Given the description of an element on the screen output the (x, y) to click on. 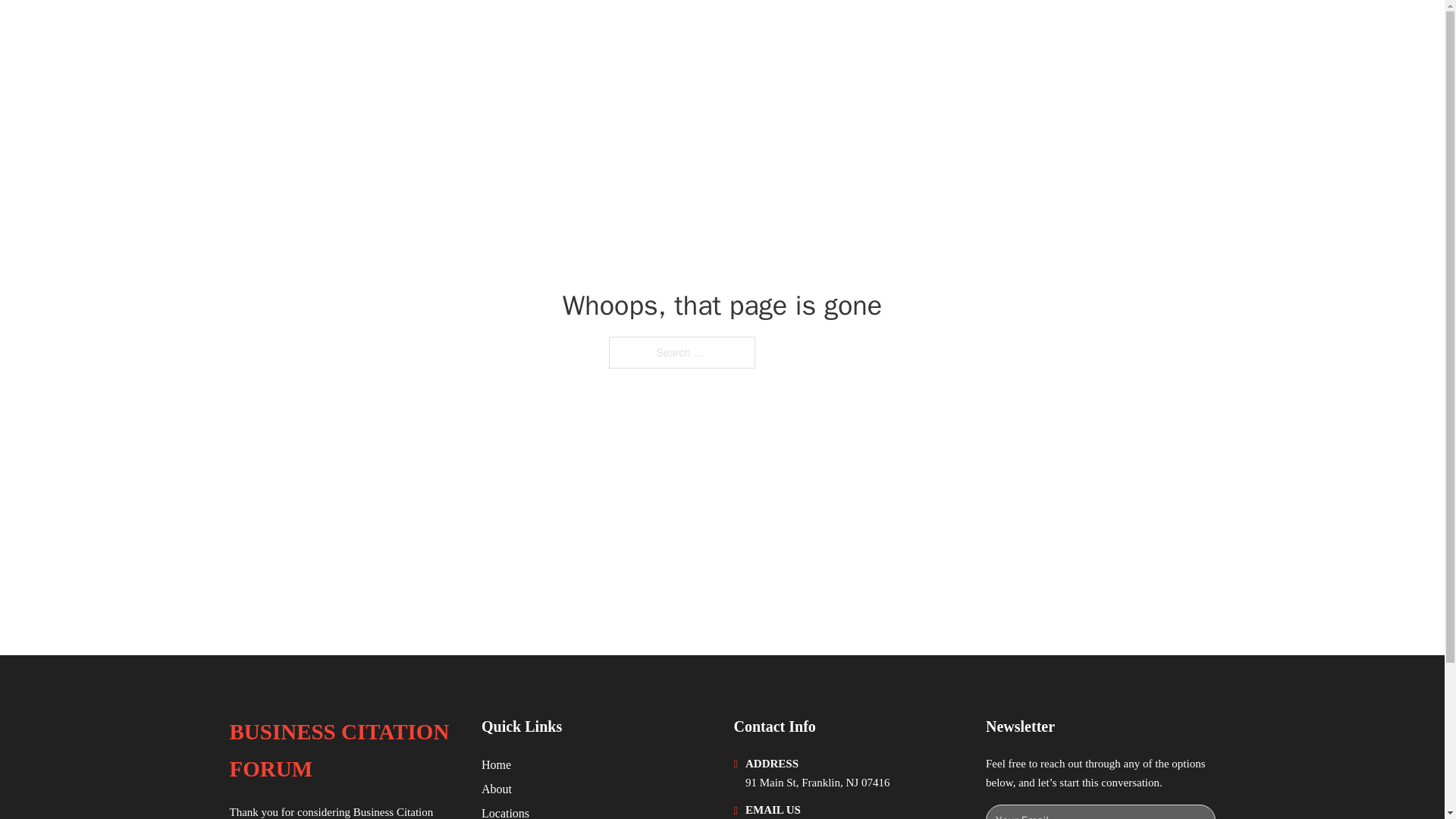
Home (496, 764)
HOME (1025, 31)
Locations (505, 811)
BUSINESS CITATION FORUM (343, 750)
BUSINESS CITATION FORUM (398, 31)
About (496, 788)
LOCATIONS (1098, 31)
